Given the description of an element on the screen output the (x, y) to click on. 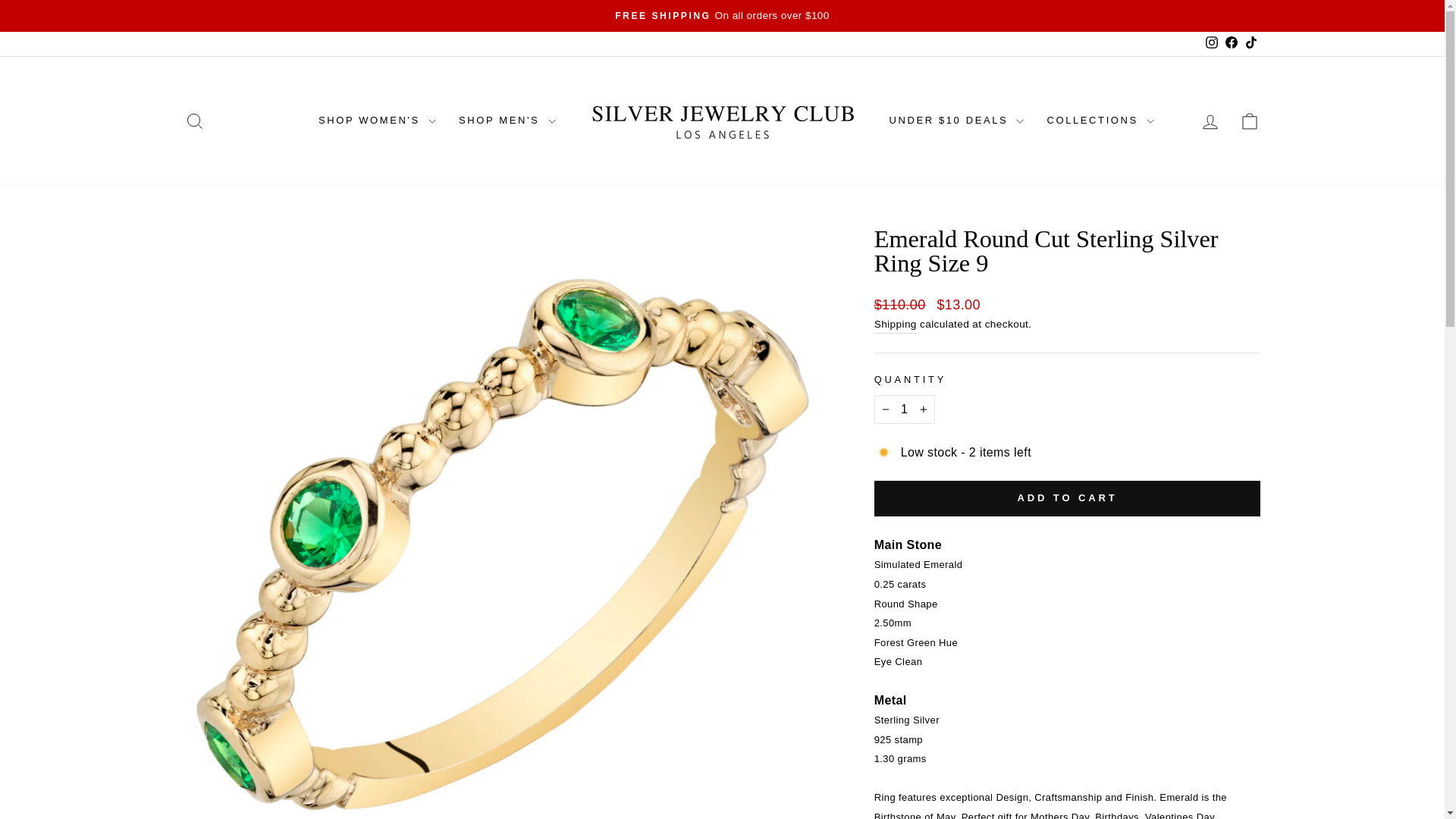
ICON-SEARCH (194, 120)
instagram (1211, 42)
ACCOUNT (1210, 121)
ICON-BAG-MINIMAL (194, 120)
1 (1249, 120)
